Given the description of an element on the screen output the (x, y) to click on. 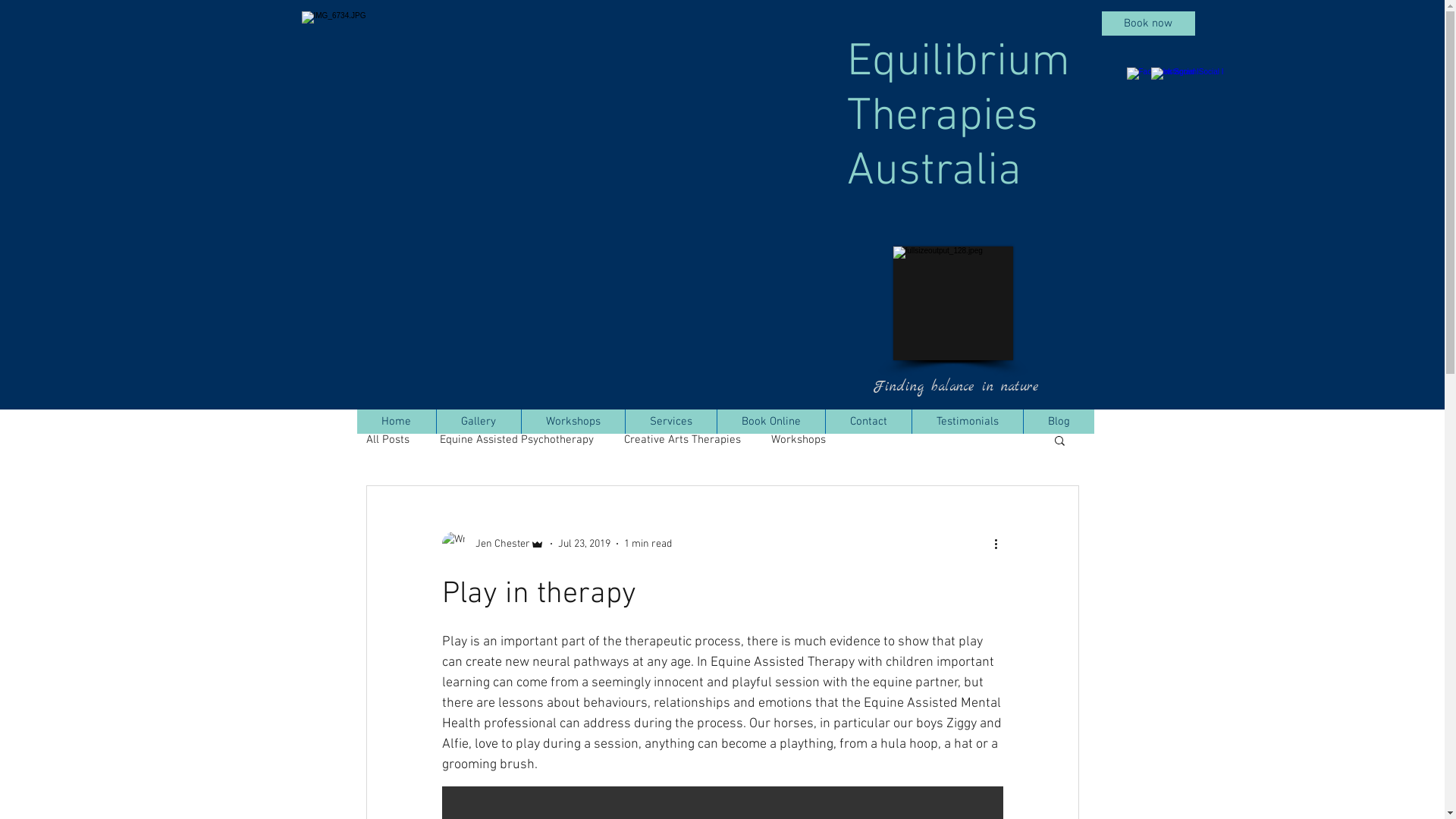
All Posts Element type: text (386, 439)
Book Online Element type: text (769, 421)
Creative Arts Therapies Element type: text (681, 439)
Gallery Element type: text (477, 421)
Jen Chester Element type: text (492, 543)
Blog Element type: text (1057, 421)
Book now Element type: text (1147, 23)
Contact Element type: text (868, 421)
Workshops Element type: text (797, 439)
Services Element type: text (670, 421)
Testimonials Element type: text (966, 421)
Equine Assisted Psychotherapy Element type: text (516, 439)
Home Element type: text (395, 421)
